Given the description of an element on the screen output the (x, y) to click on. 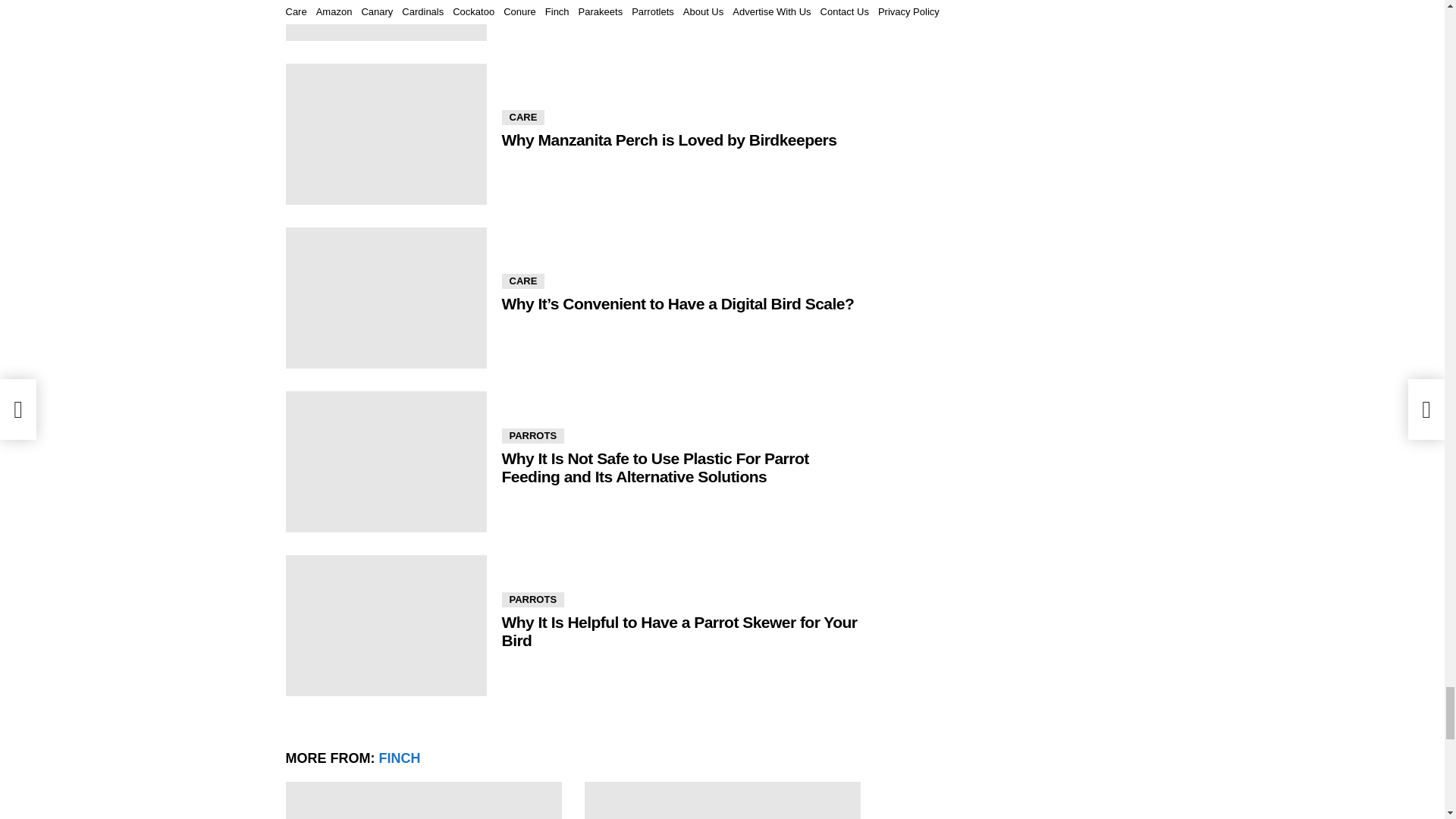
5 Best Finch Cages You Should Buy (422, 800)
Why Manzanita Perch is Loved by Birdkeepers (385, 133)
CARE (523, 117)
Why Manzanita Perch is Loved by Birdkeepers (669, 139)
Why It Is Helpful to Have a Parrot Skewer for Your Bird (385, 625)
CARE (523, 281)
Why Owning a Parrot is a Great Decision (385, 20)
